Given the description of an element on the screen output the (x, y) to click on. 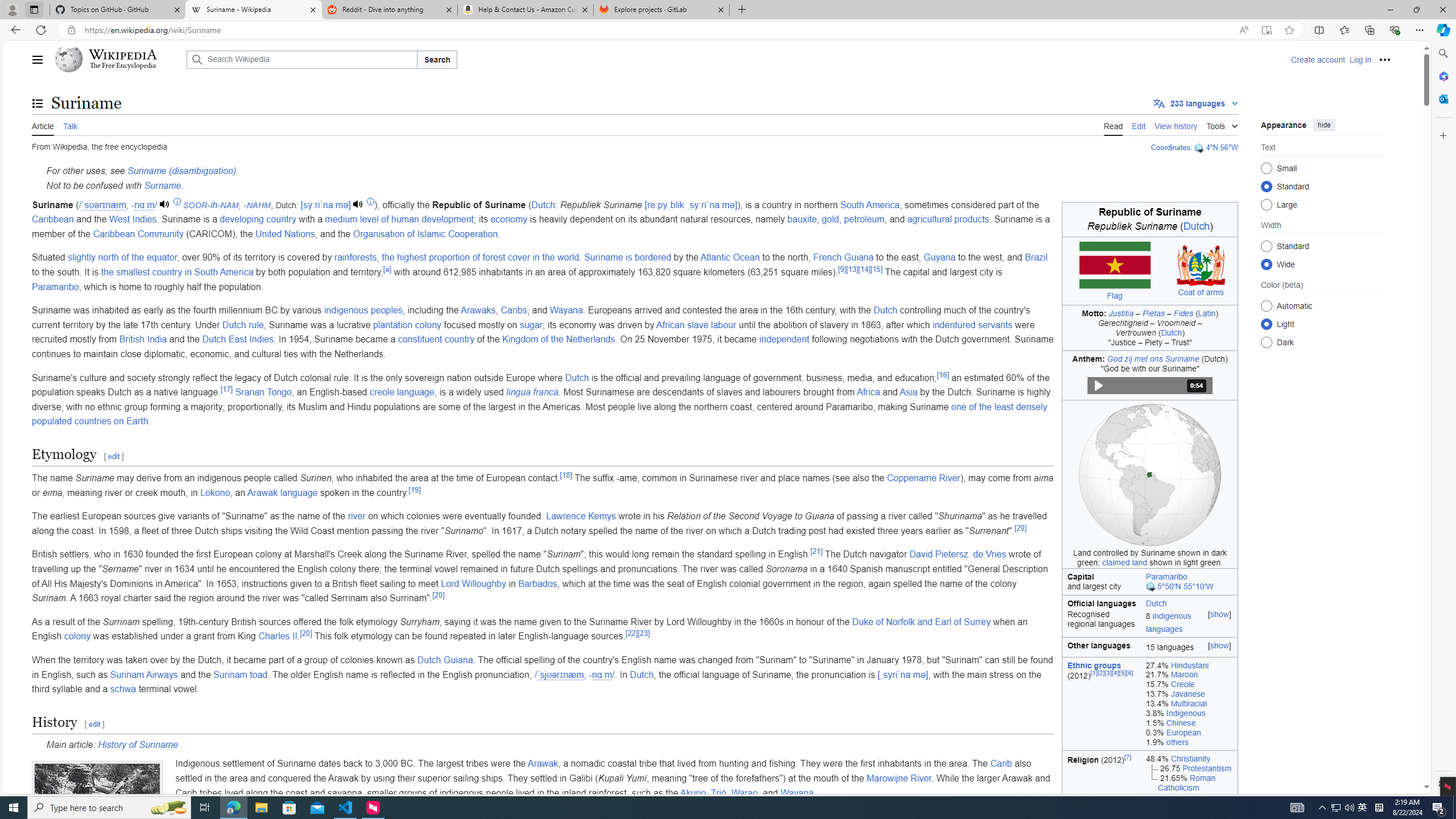
Carib (1000, 763)
Talk (69, 124)
Toggle the table of contents (37, 103)
rainforests (355, 257)
bauxite (801, 219)
View history (1176, 124)
Large (1266, 204)
Class: mergedtoprow (1149, 602)
[22] (630, 632)
Standard (1266, 245)
